Given the description of an element on the screen output the (x, y) to click on. 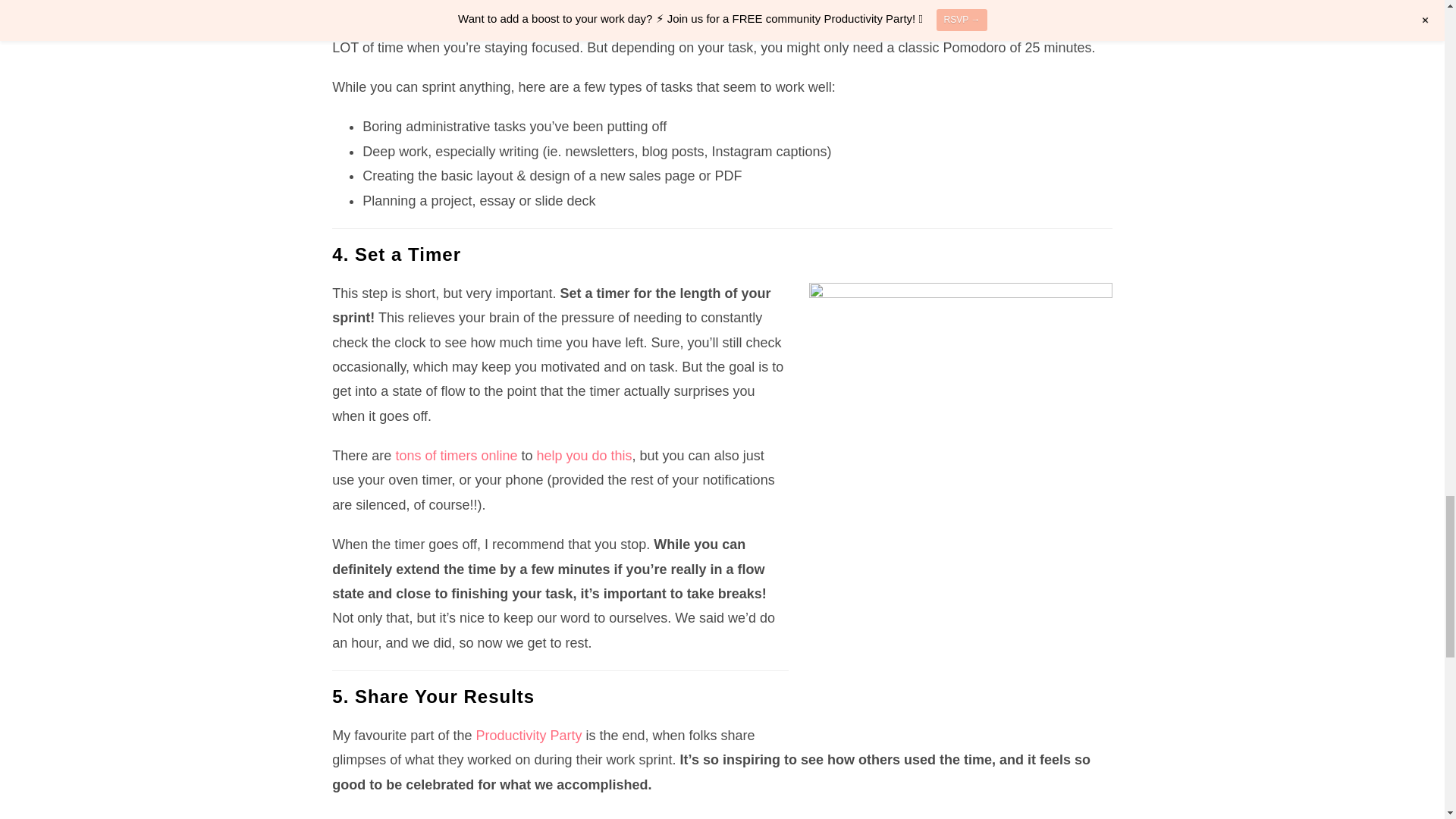
Productivity Party (528, 735)
tons of timers online (455, 455)
Productivity Party (798, 22)
help you do this (583, 455)
